Given the description of an element on the screen output the (x, y) to click on. 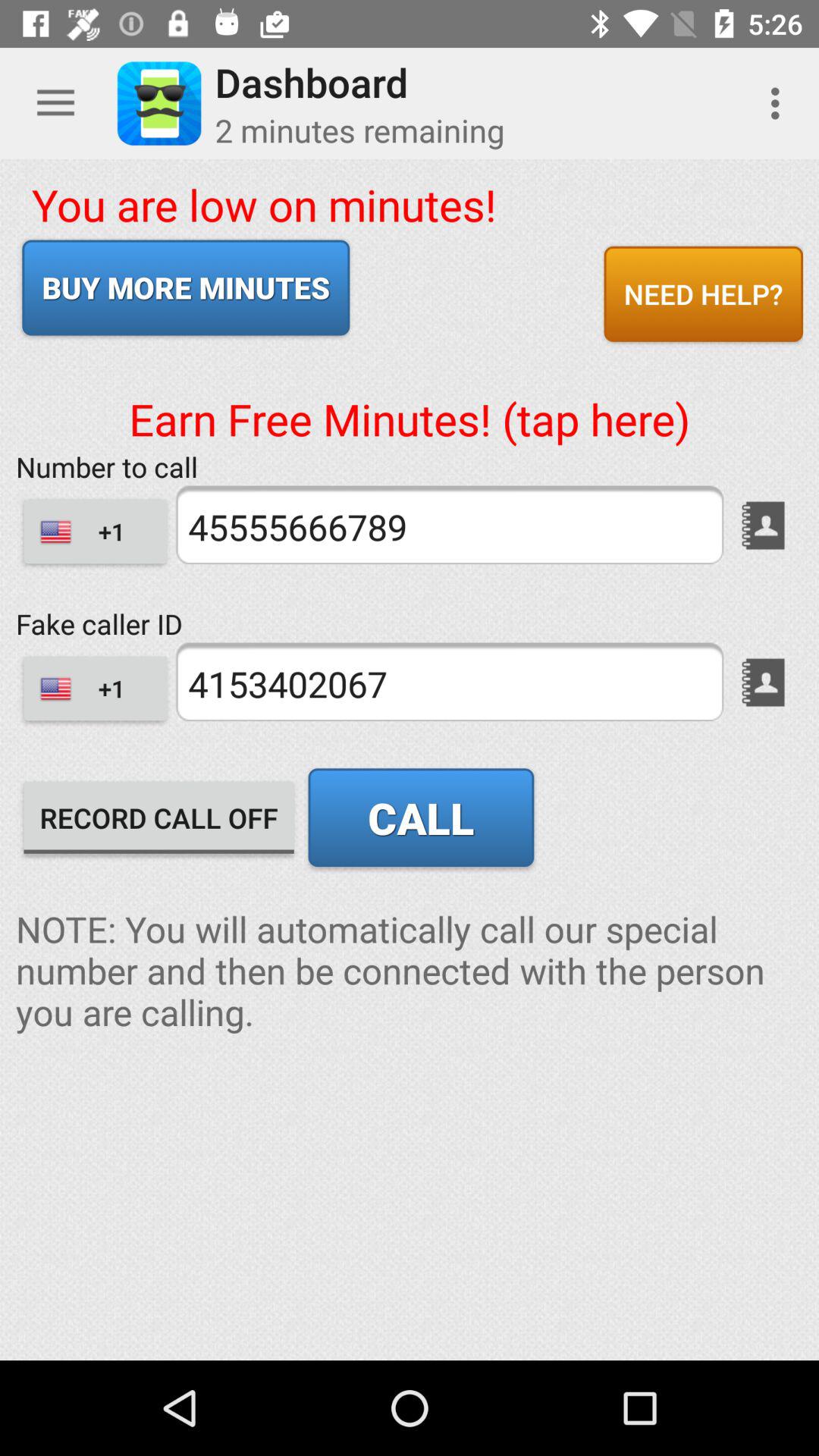
go contacts (763, 525)
